Given the description of an element on the screen output the (x, y) to click on. 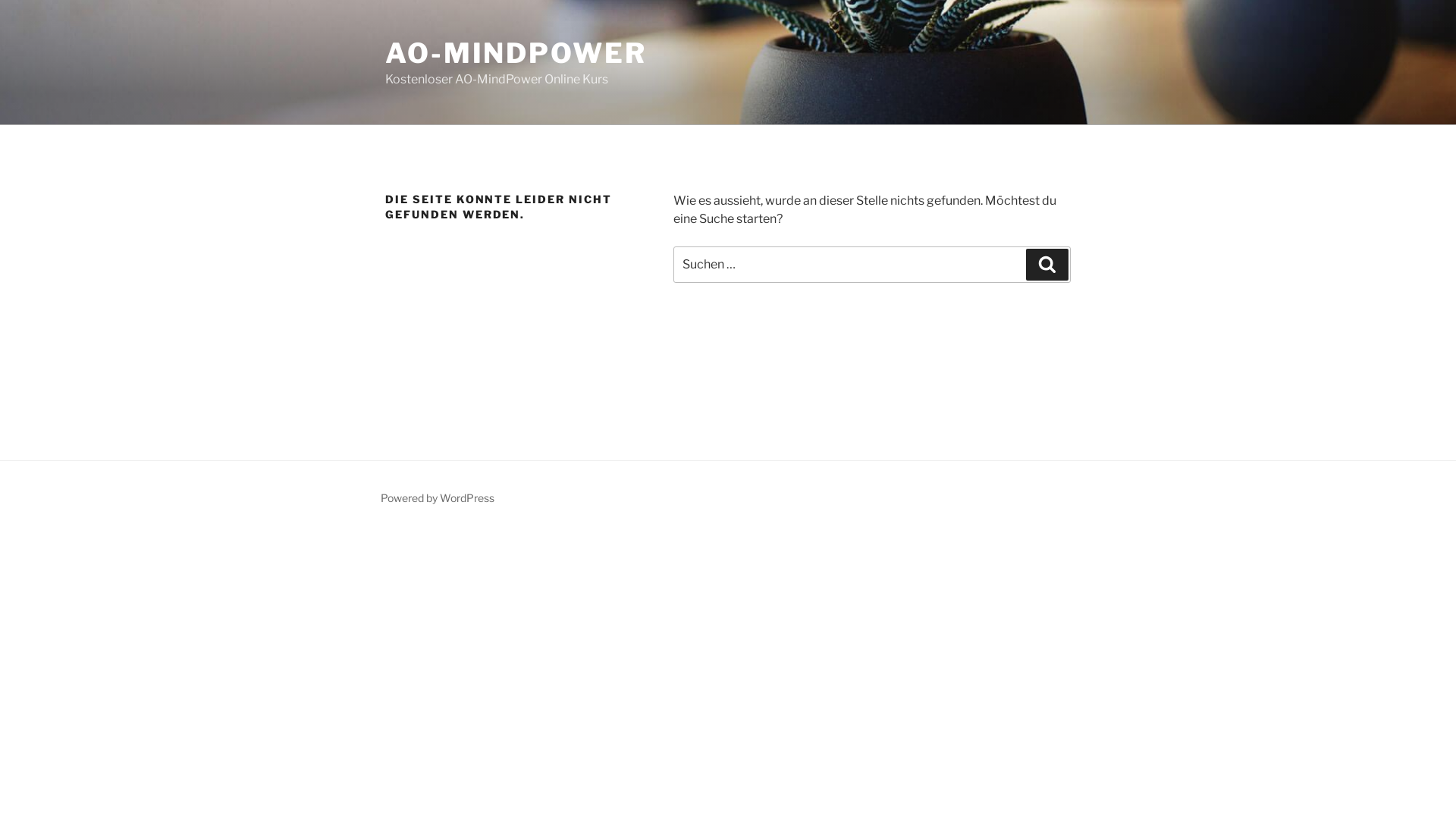
AO-MINDPOWER Element type: text (515, 52)
Powered by WordPress Element type: text (437, 497)
Zum Inhalt springen Element type: text (0, 0)
Suchen Element type: text (1047, 264)
